Given the description of an element on the screen output the (x, y) to click on. 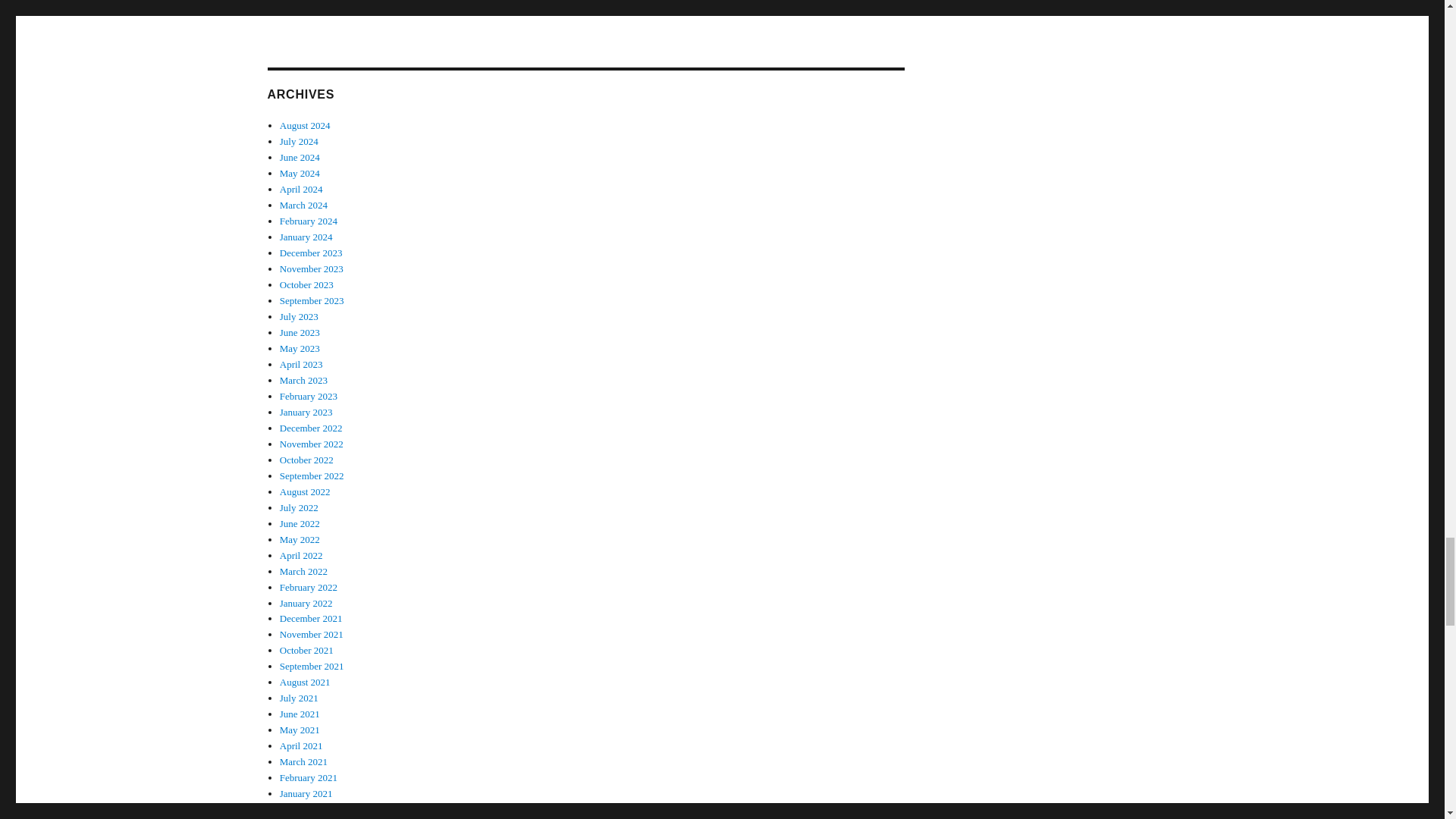
October 2022 (306, 460)
March 2024 (303, 204)
December 2022 (310, 428)
May 2023 (299, 348)
May 2024 (299, 173)
November 2022 (311, 443)
January 2023 (306, 411)
August 2024 (304, 125)
July 2023 (298, 316)
March 2023 (303, 379)
